Given the description of an element on the screen output the (x, y) to click on. 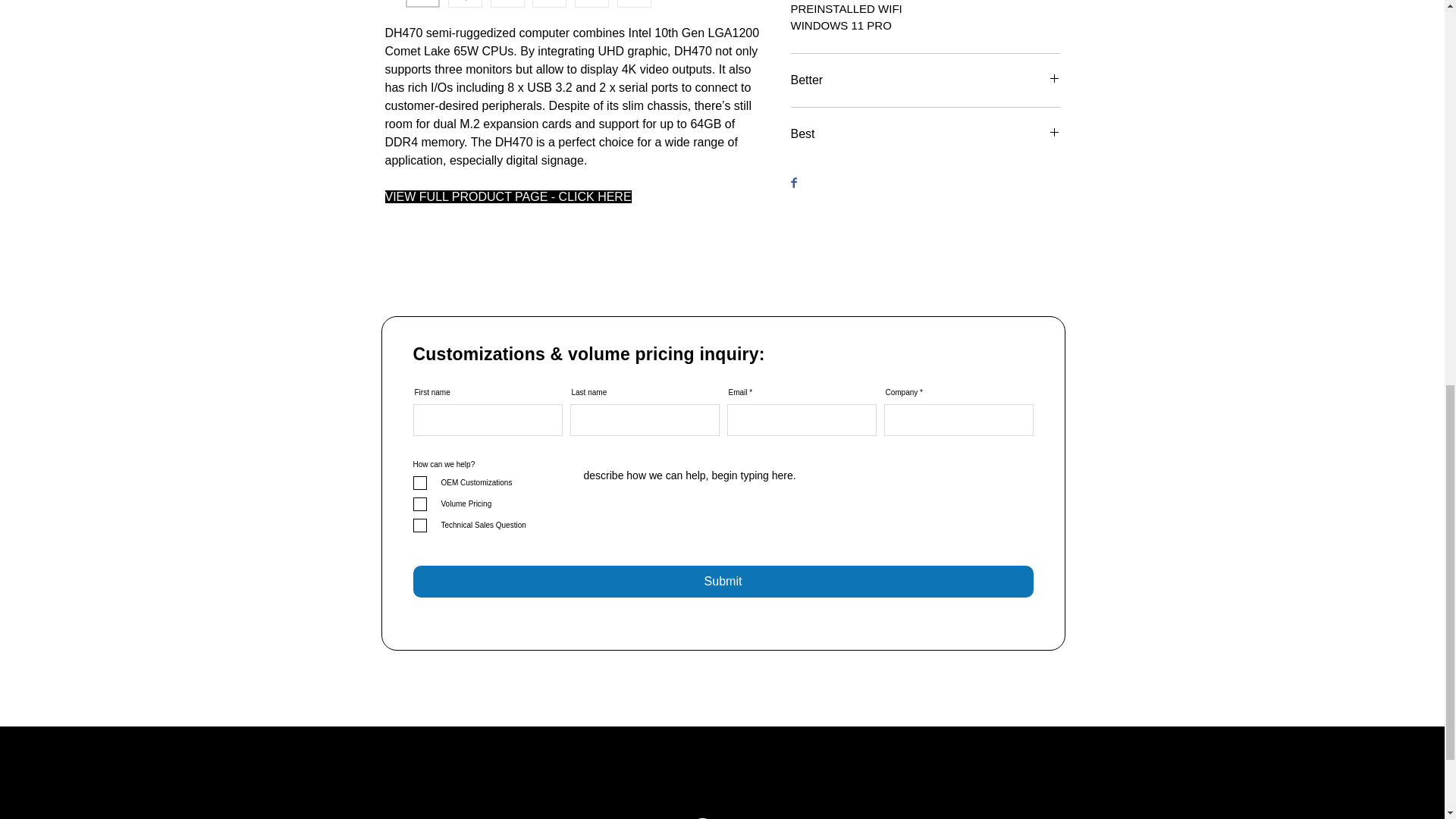
VIEW FULL PRODUCT PAGE - CLICK HERE (508, 196)
Best (924, 134)
Submit (722, 581)
Better (924, 80)
